Given the description of an element on the screen output the (x, y) to click on. 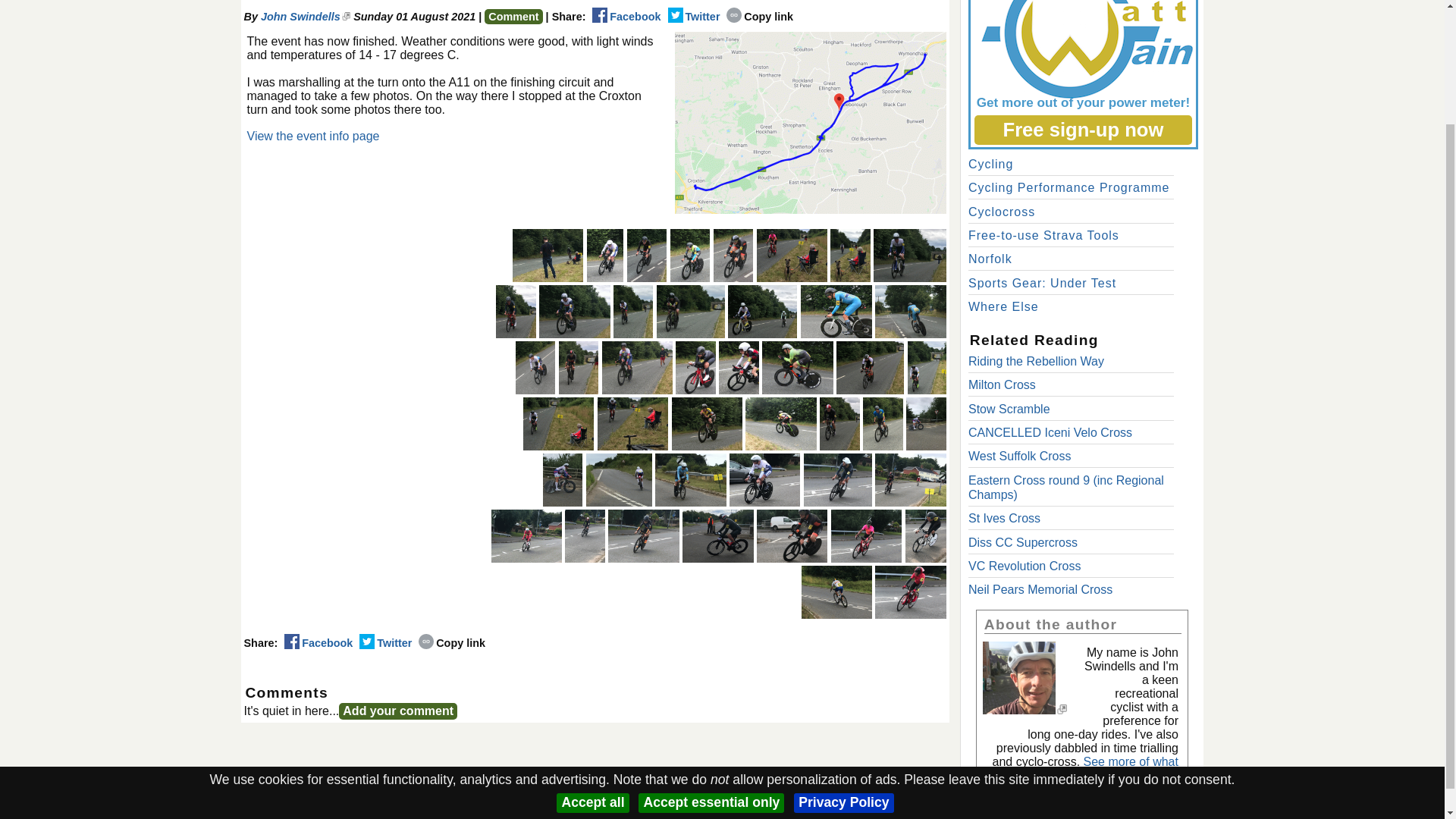
National 12hr time trial (690, 311)
Twitter (692, 16)
National 12hr time trial (836, 311)
Copy link (759, 16)
National 12hr time trial (792, 255)
National 12hr time trial (762, 311)
National 12hr time trial (909, 311)
National 12hr time trial (574, 311)
Facebook (626, 16)
Comment (512, 16)
